Given the description of an element on the screen output the (x, y) to click on. 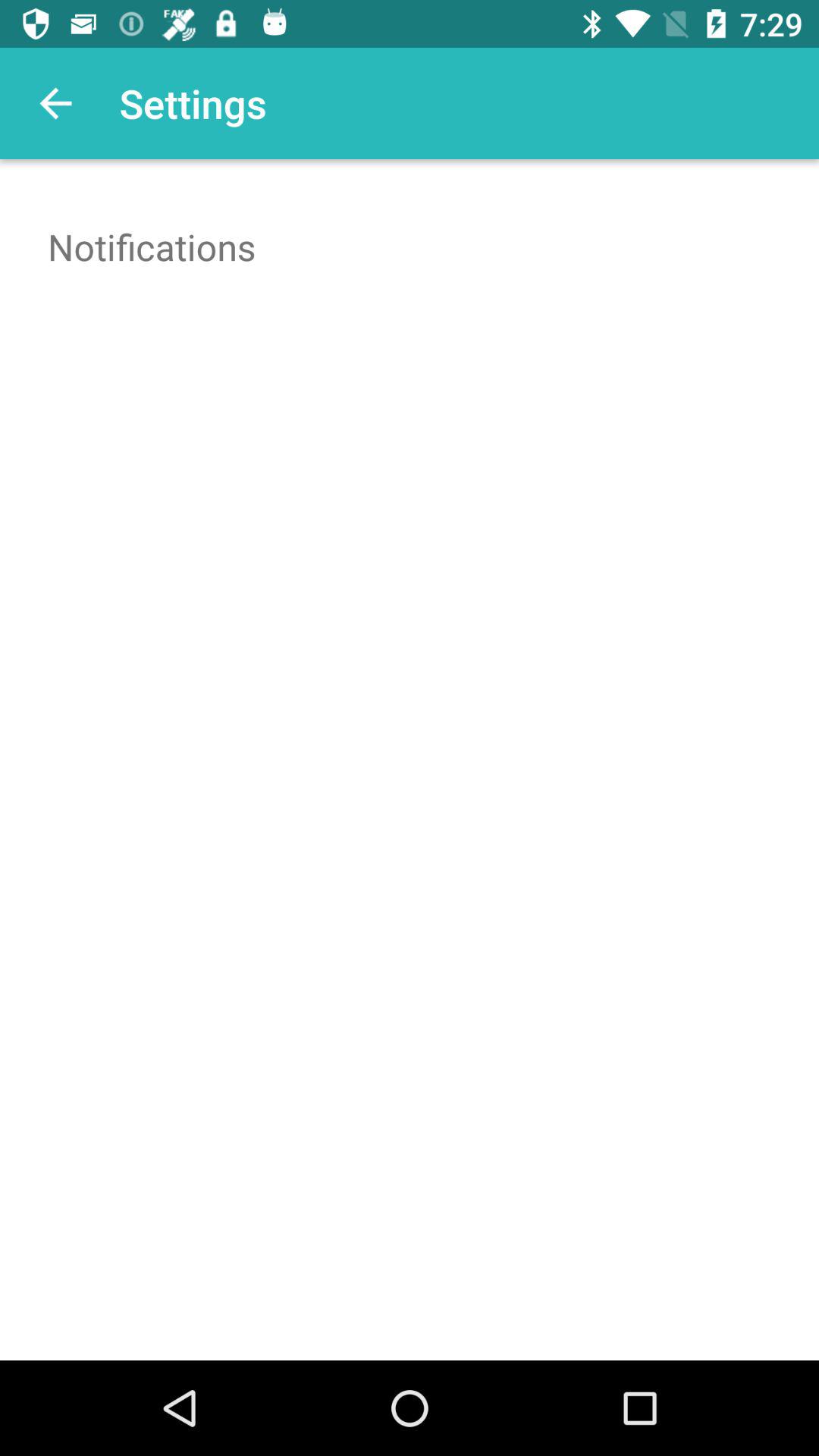
turn on the icon above notifications icon (55, 103)
